Given the description of an element on the screen output the (x, y) to click on. 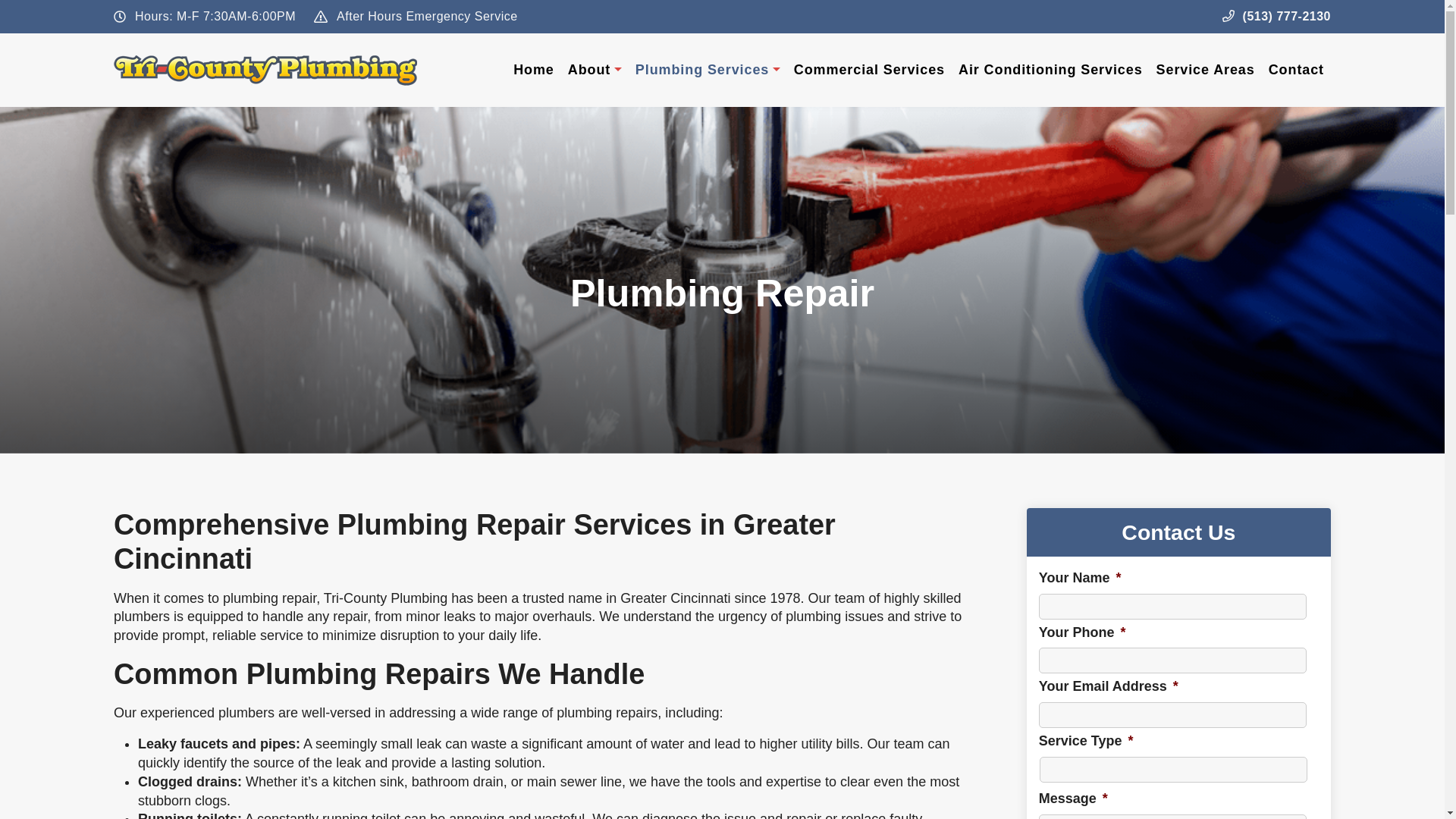
Service Areas (1206, 69)
About (594, 69)
Commercial Services (869, 69)
Contact (1296, 69)
Plumbing Services (707, 69)
Home (533, 69)
Air Conditioning Services (1051, 69)
